Given the description of an element on the screen output the (x, y) to click on. 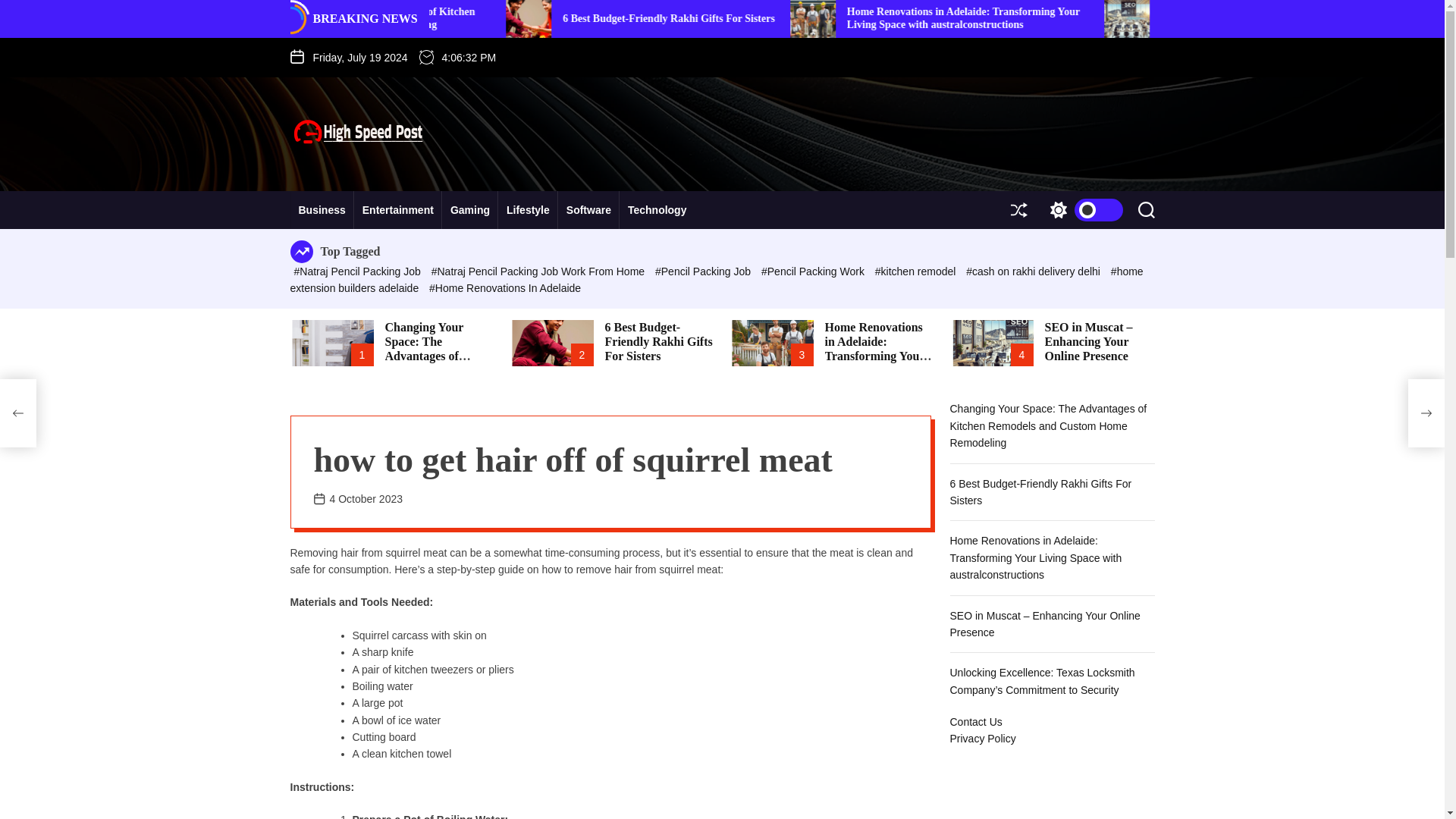
Business (321, 209)
6 Best Budget-Friendly Rakhi Gifts For Sisters (906, 18)
